Given the description of an element on the screen output the (x, y) to click on. 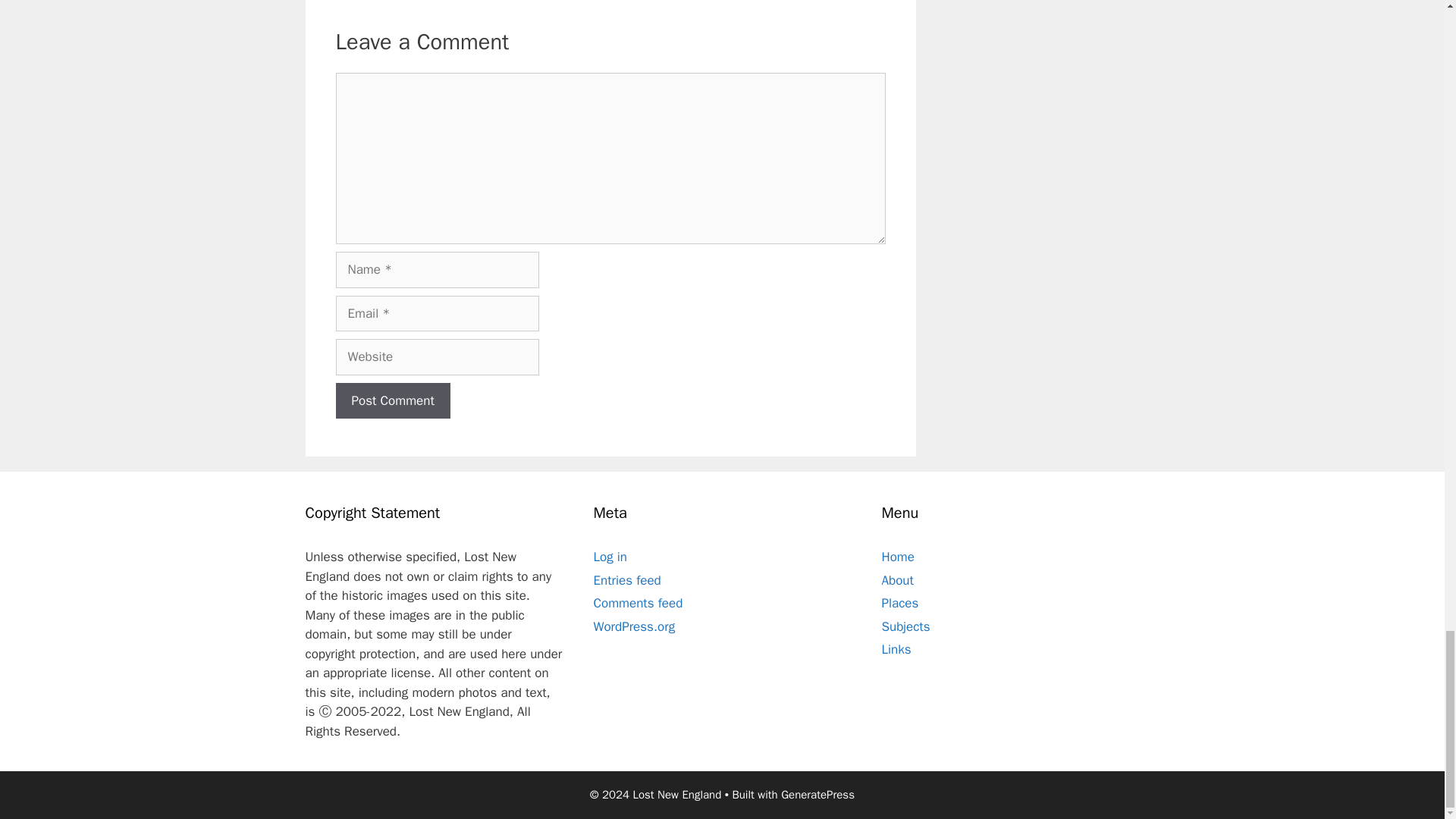
Post Comment (391, 401)
